Given the description of an element on the screen output the (x, y) to click on. 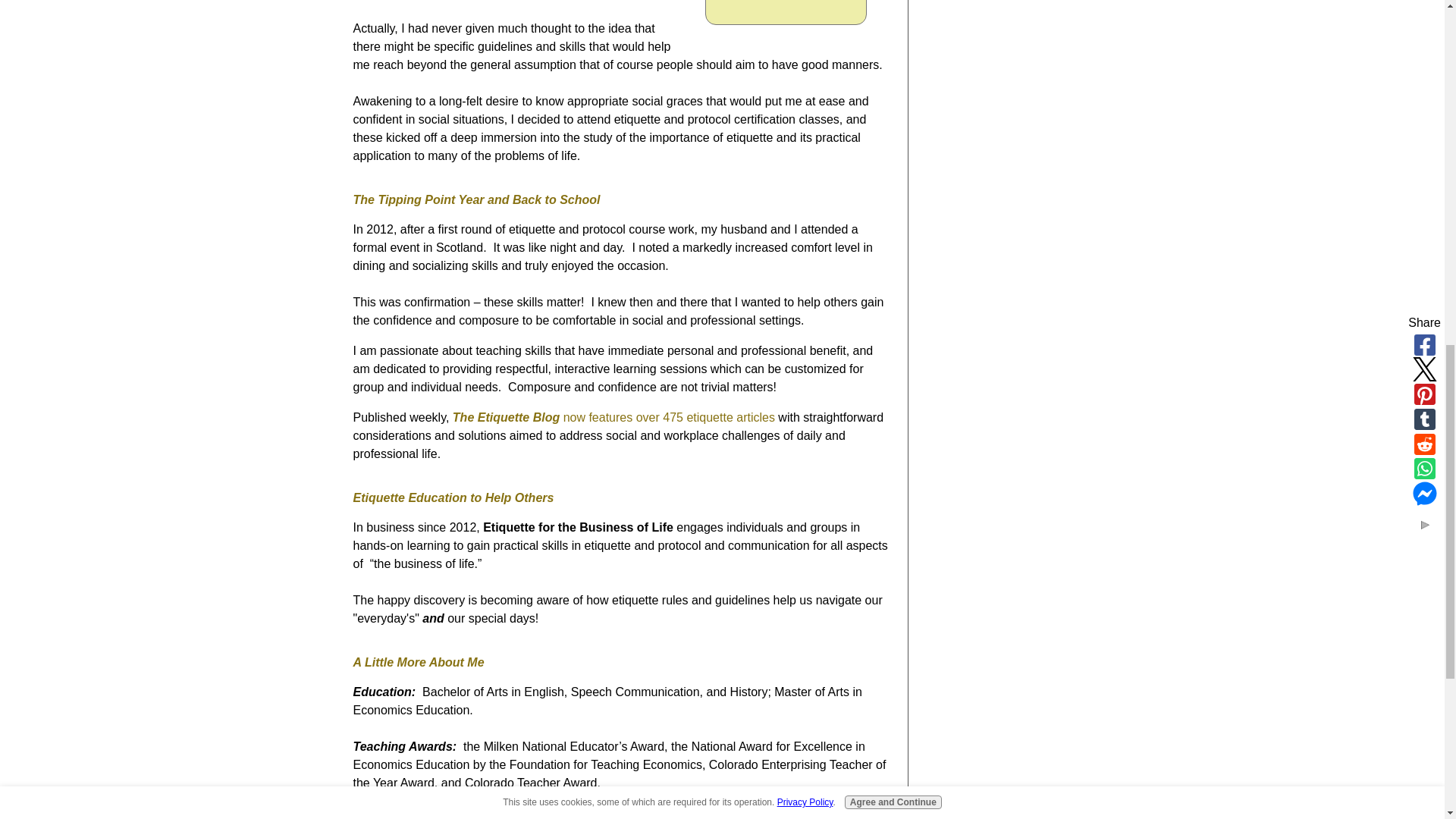
over 475 etiquette articles (705, 417)
now features  (599, 417)
The Etiquette Blog (507, 417)
